Given the description of an element on the screen output the (x, y) to click on. 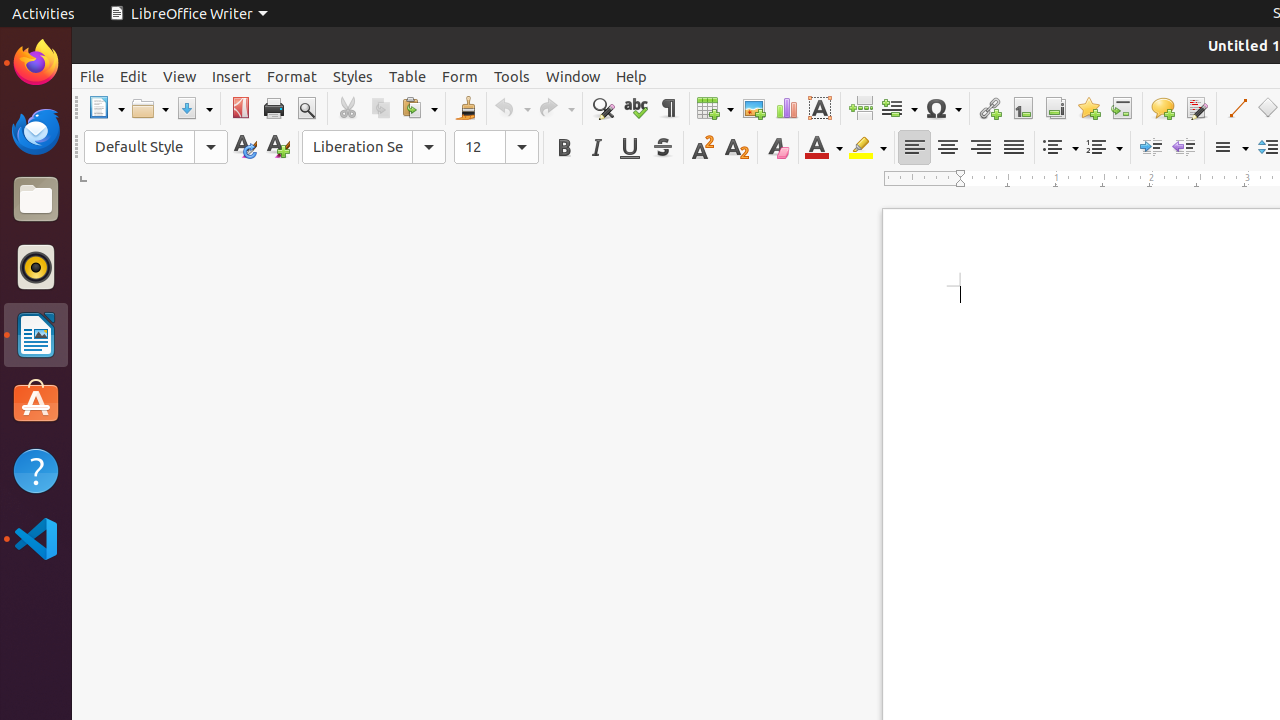
Table Element type: menu (407, 76)
Superscript Element type: toggle-button (703, 147)
Symbol Element type: push-button (943, 108)
Styles Element type: menu (353, 76)
